Given the description of an element on the screen output the (x, y) to click on. 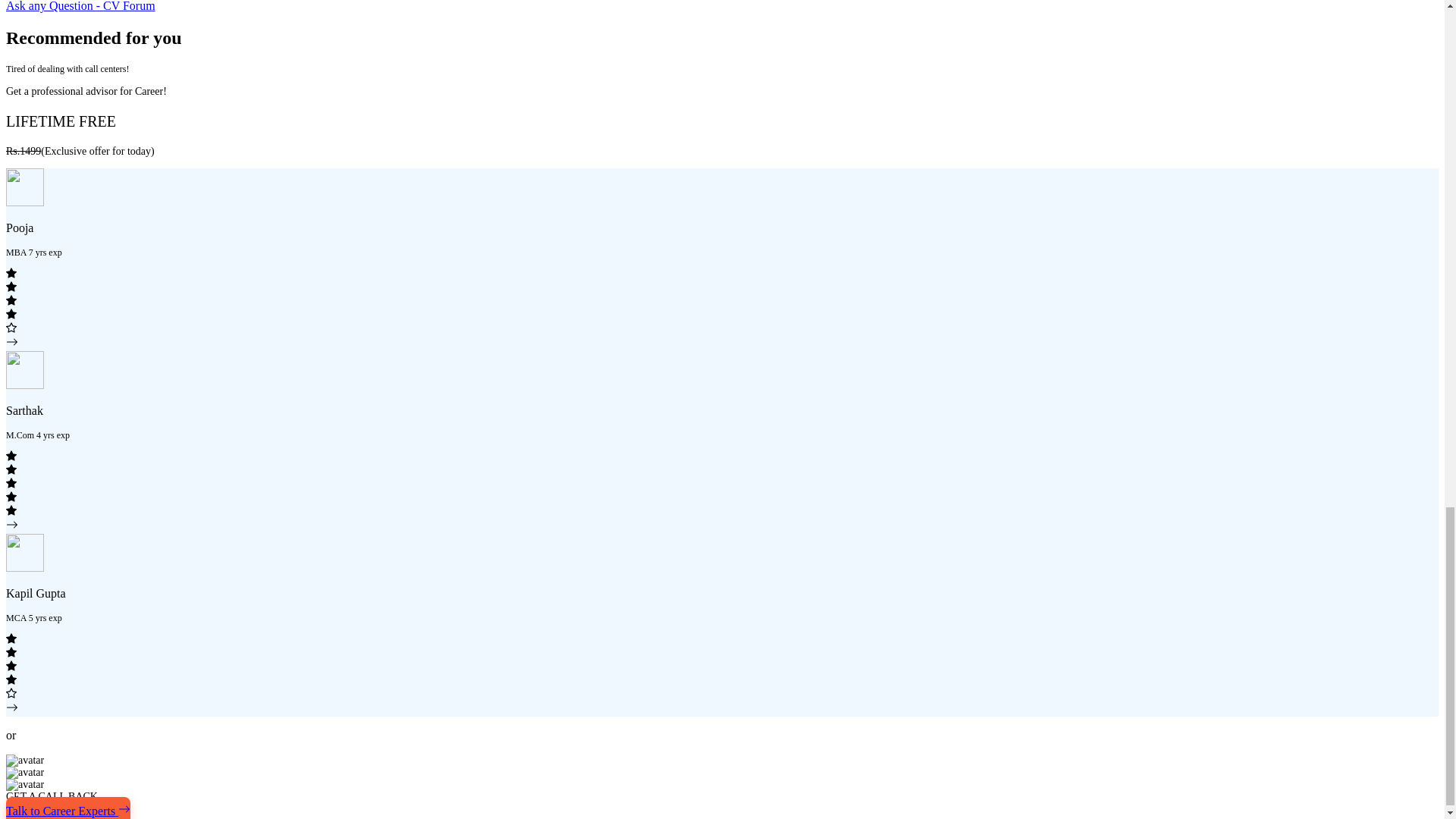
Ask any Question - CV Forum (80, 6)
